Given the description of an element on the screen output the (x, y) to click on. 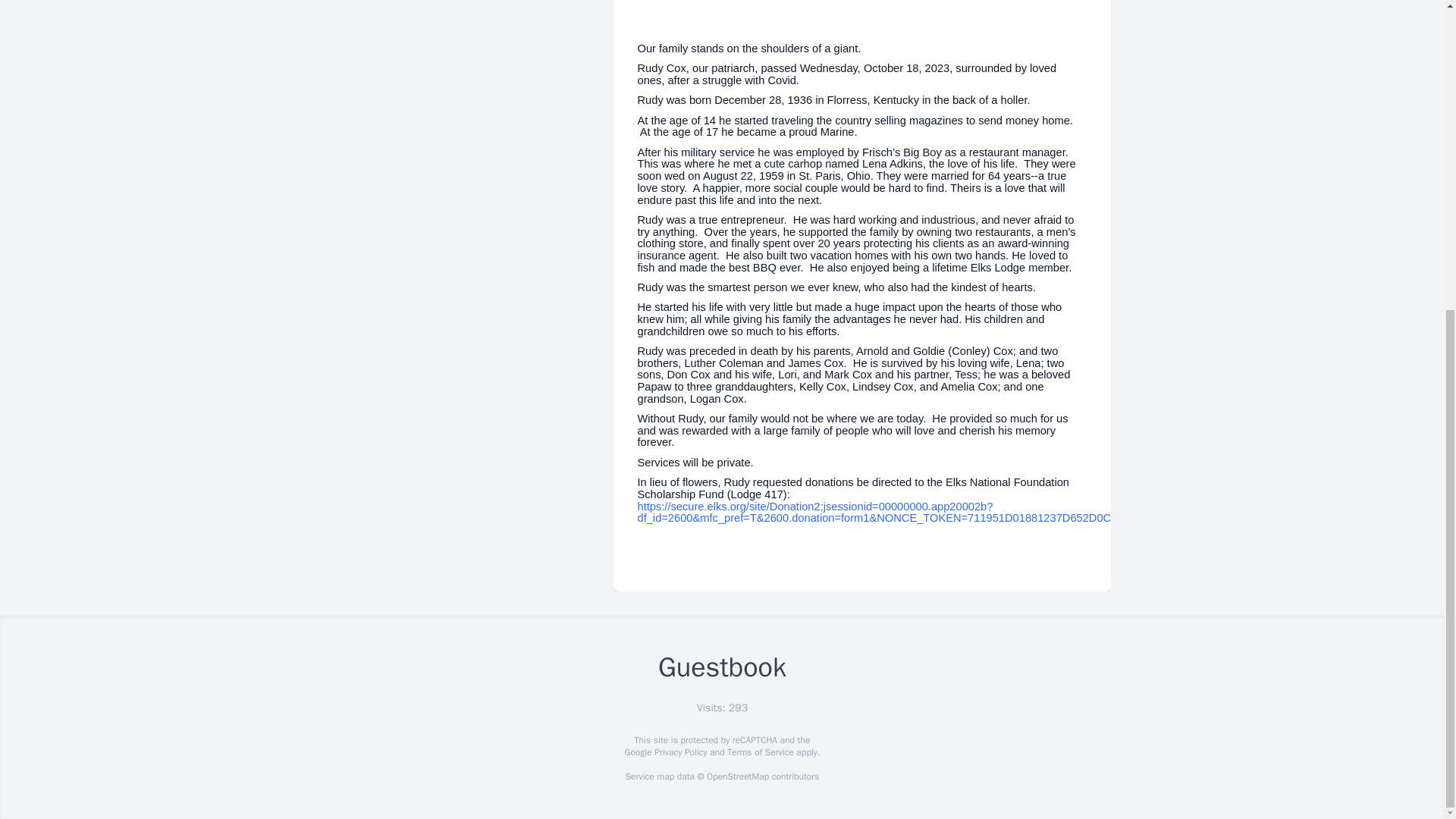
Terms of Service (759, 752)
OpenStreetMap (737, 776)
Privacy Policy (679, 752)
